Given the description of an element on the screen output the (x, y) to click on. 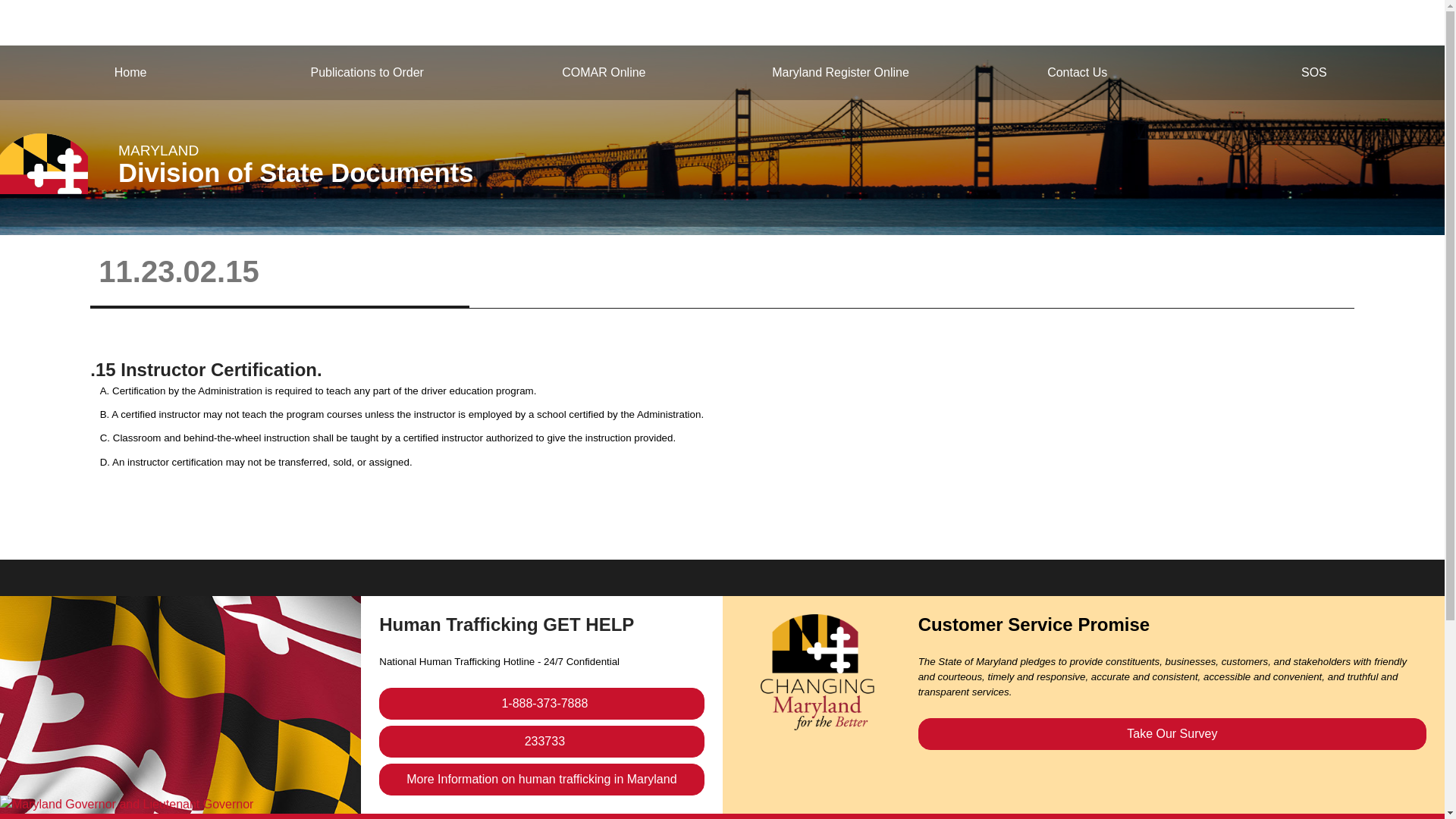
Skip to Content (12, 57)
233733 (540, 741)
More Information on human trafficking in Maryland (540, 779)
Maryland Register Online (840, 72)
1-888-373-7888 (540, 703)
Contact Us (1077, 72)
Home (130, 72)
Take Our Survey (1172, 734)
Publications to Order (366, 72)
SOS (1313, 72)
COMAR Online (603, 72)
